Given the description of an element on the screen output the (x, y) to click on. 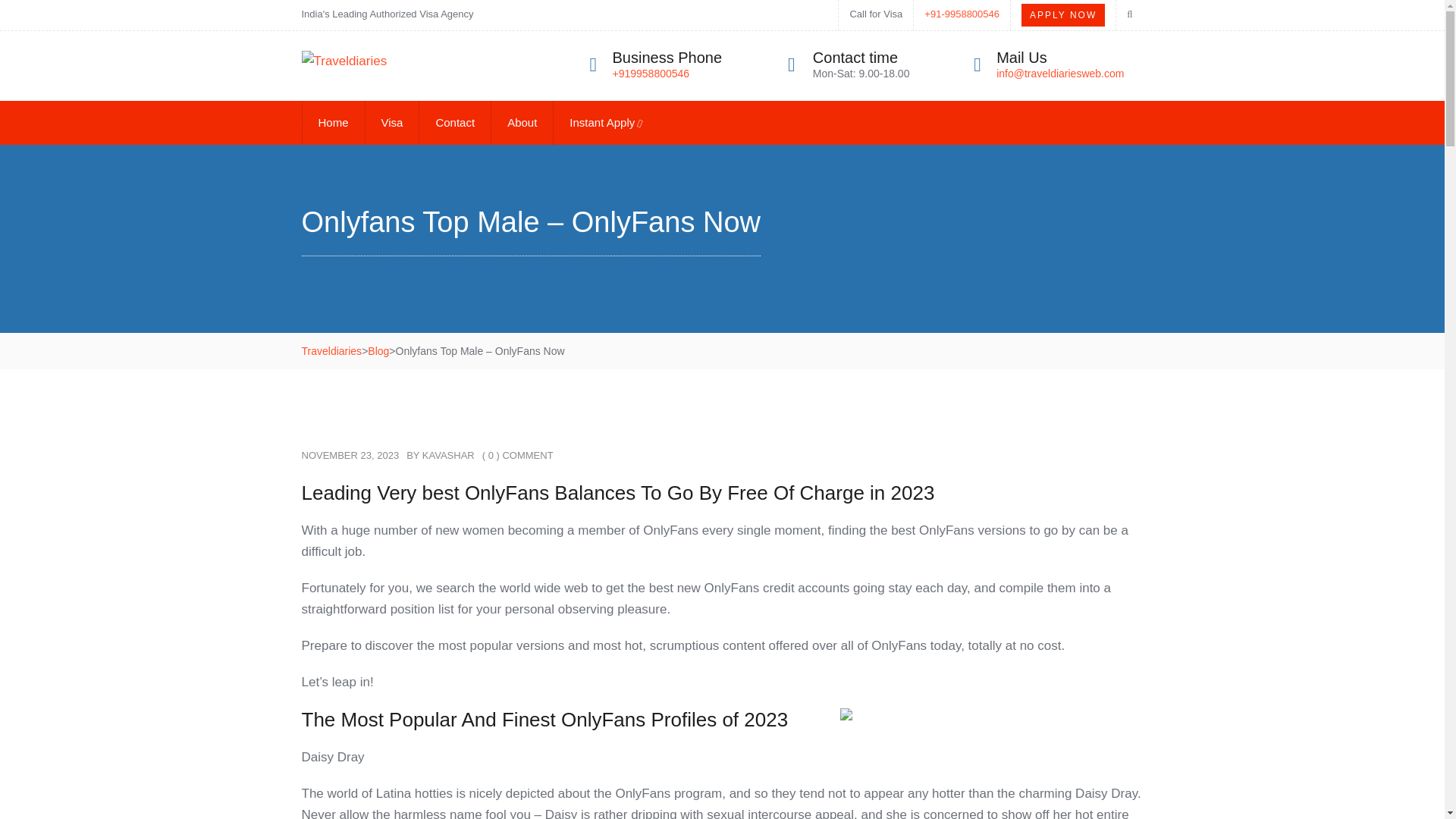
Home (333, 122)
Visa (392, 122)
Contact (454, 122)
Traveldiaries (331, 350)
KAVASHAR (448, 455)
APPLY NOW (1063, 15)
Go to the blog Category archives. (378, 350)
About (521, 122)
Blog (378, 350)
Instant Apply (605, 122)
Go to Traveldiaries. (331, 350)
